Given the description of an element on the screen output the (x, y) to click on. 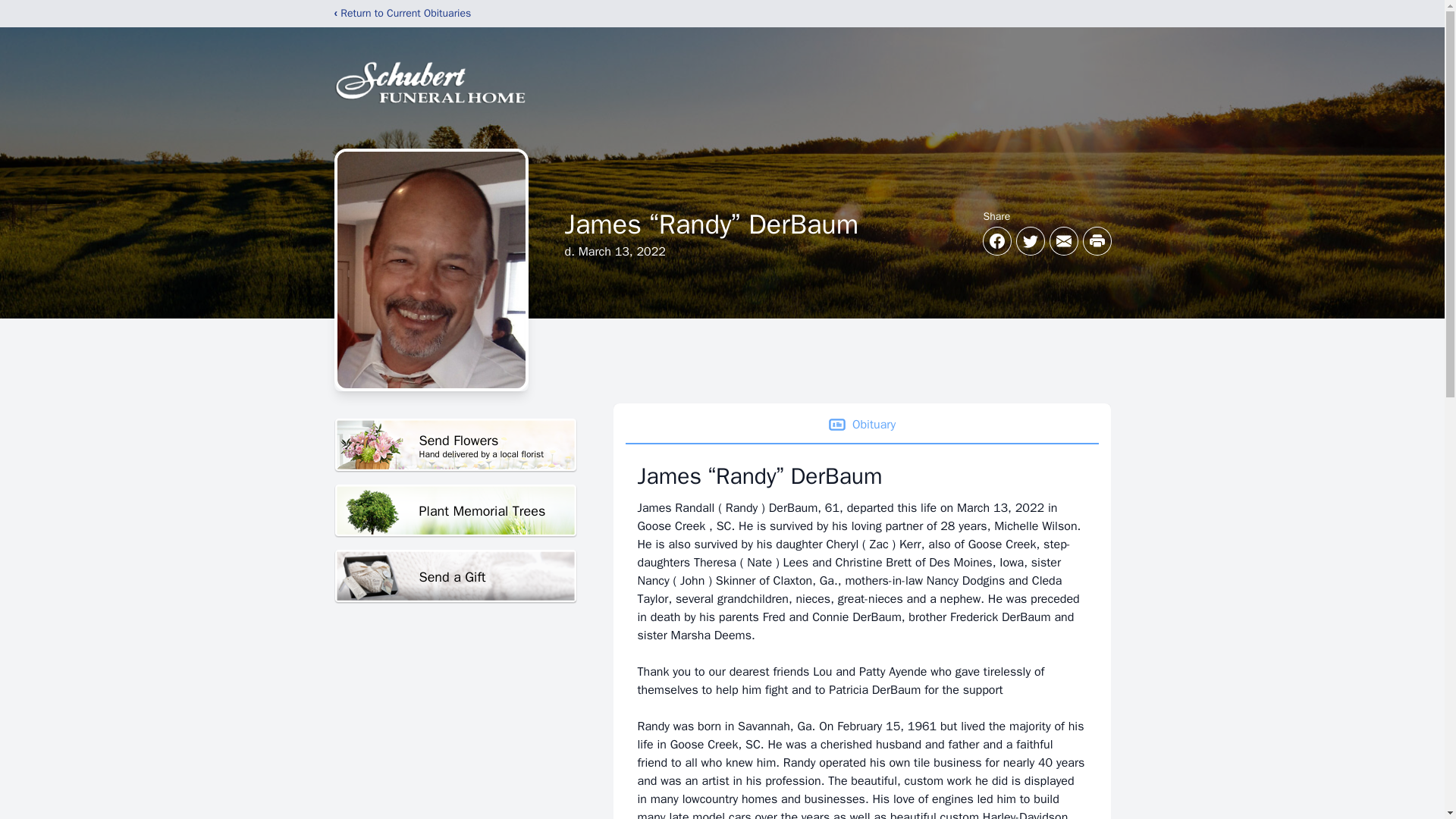
Send a Gift (454, 576)
Obituary (860, 425)
Plant Memorial Trees (454, 445)
